Given the description of an element on the screen output the (x, y) to click on. 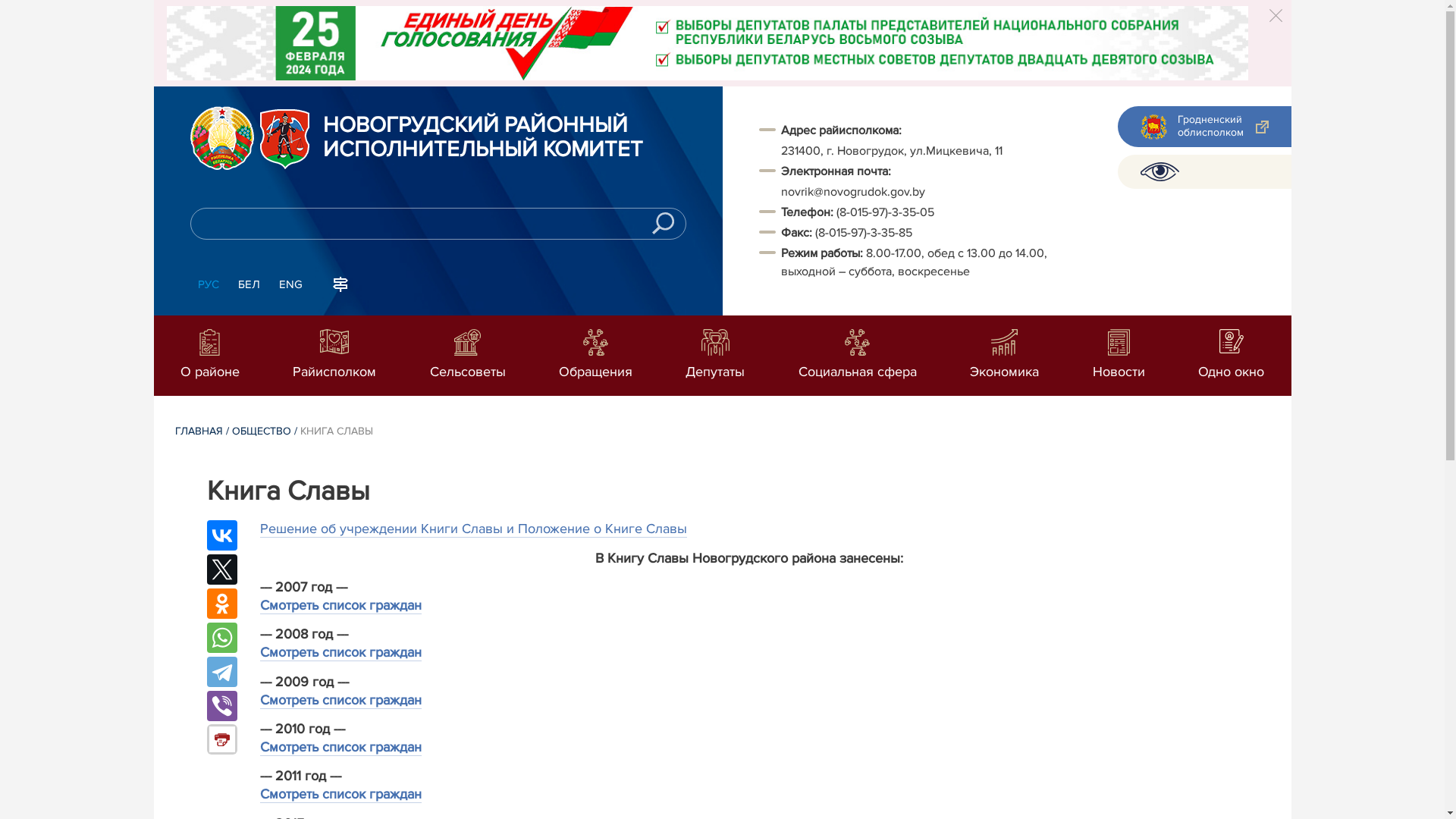
ENG Element type: text (290, 284)
Telegram Element type: hover (221, 671)
WhatsApp Element type: hover (221, 637)
Viber Element type: hover (221, 705)
Twitter Element type: hover (221, 569)
